Given the description of an element on the screen output the (x, y) to click on. 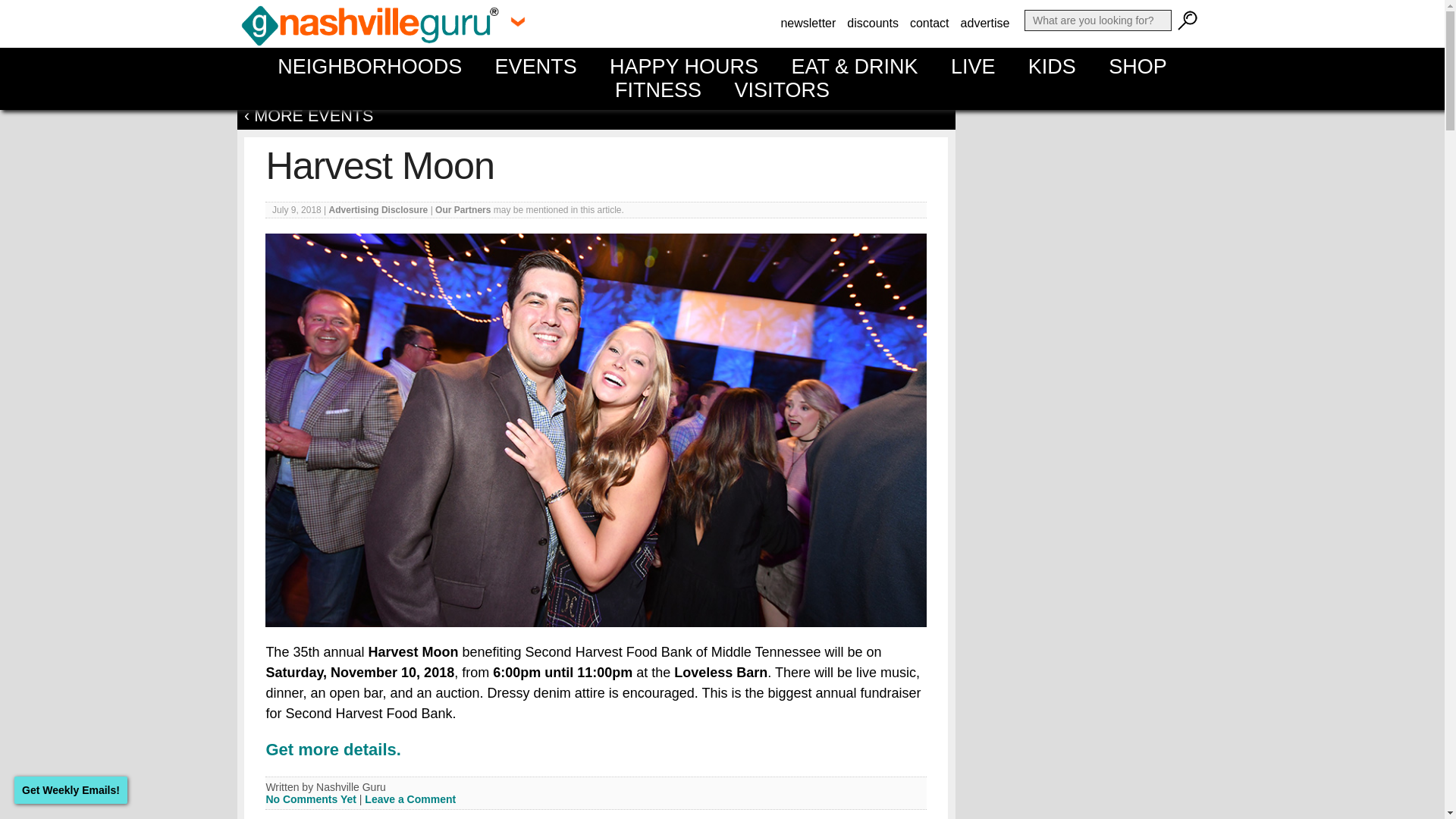
contact (929, 22)
discounts (872, 22)
Advertising Disclosure (378, 209)
3rd party ad content (1093, 606)
advertise (984, 22)
KIDS (1051, 66)
EVENTS (535, 66)
3rd party ad content (1093, 767)
3rd party ad content (1093, 196)
VISITORS (781, 89)
SHOP (1137, 66)
FITNESS (657, 89)
newsletter (808, 22)
Get more details. (332, 749)
